Given the description of an element on the screen output the (x, y) to click on. 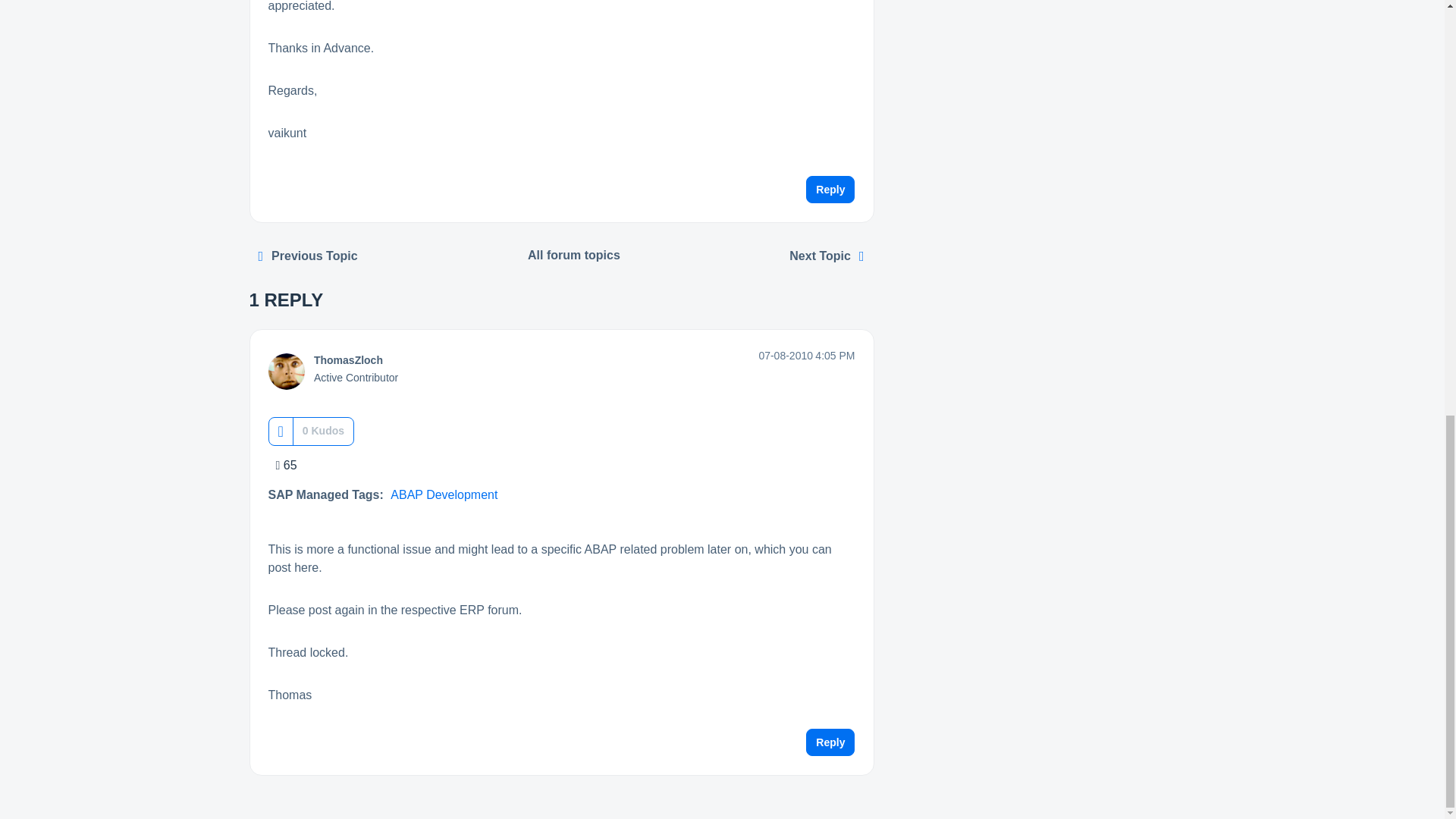
Application Development Discussions (574, 255)
ThomasZloch (348, 359)
Reply (830, 189)
Next Topic (825, 255)
ABAP Development (443, 494)
Previous Topic (308, 255)
Commit transaction problem (308, 255)
All forum topics (574, 255)
Reply (830, 741)
